Given the description of an element on the screen output the (x, y) to click on. 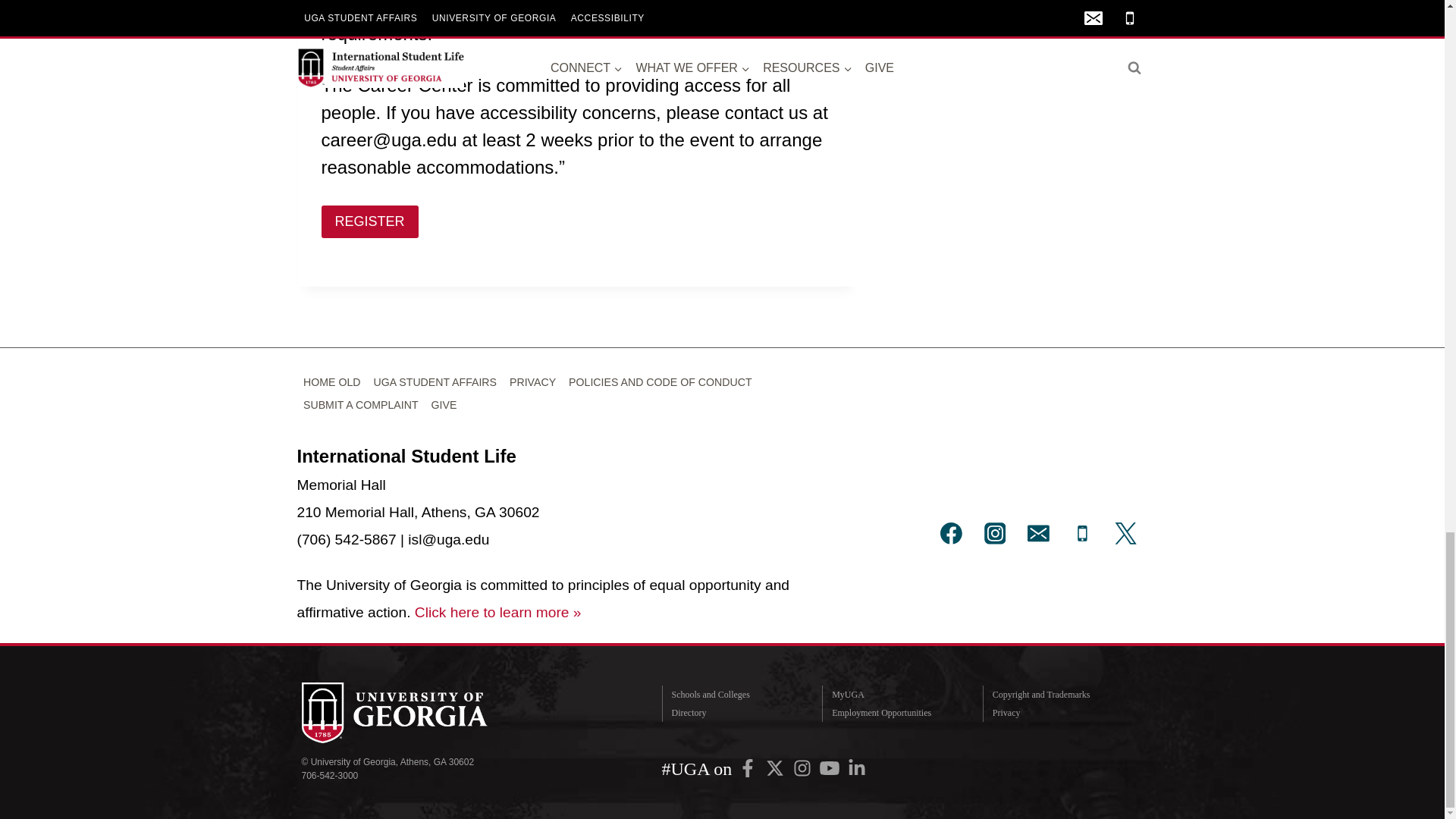
Instagram (801, 768)
YouTube (829, 768)
Facebook (747, 768)
LinkedIn (856, 768)
Twitter (774, 768)
